Given the description of an element on the screen output the (x, y) to click on. 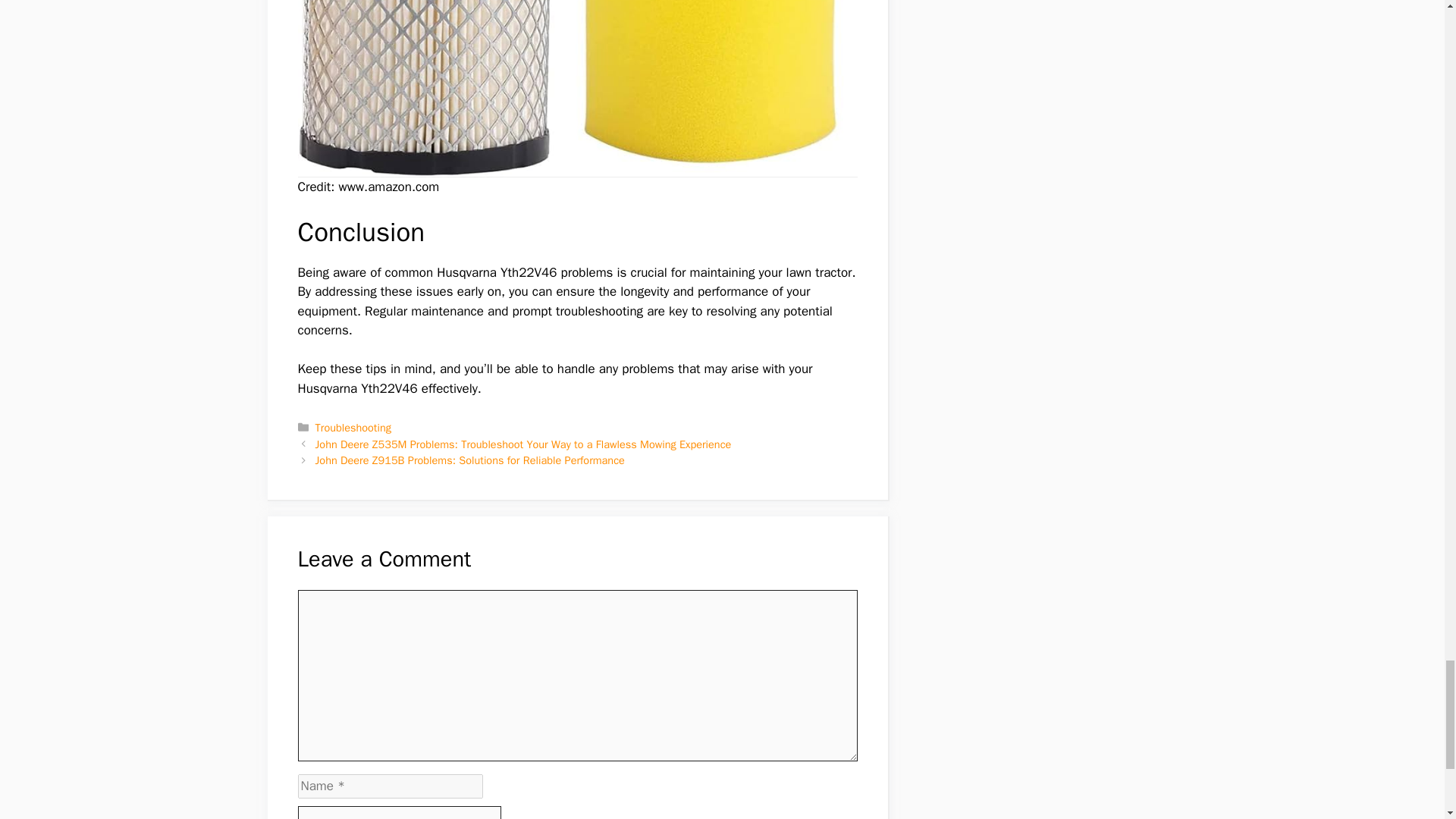
Troubleshooting (353, 427)
